Given the description of an element on the screen output the (x, y) to click on. 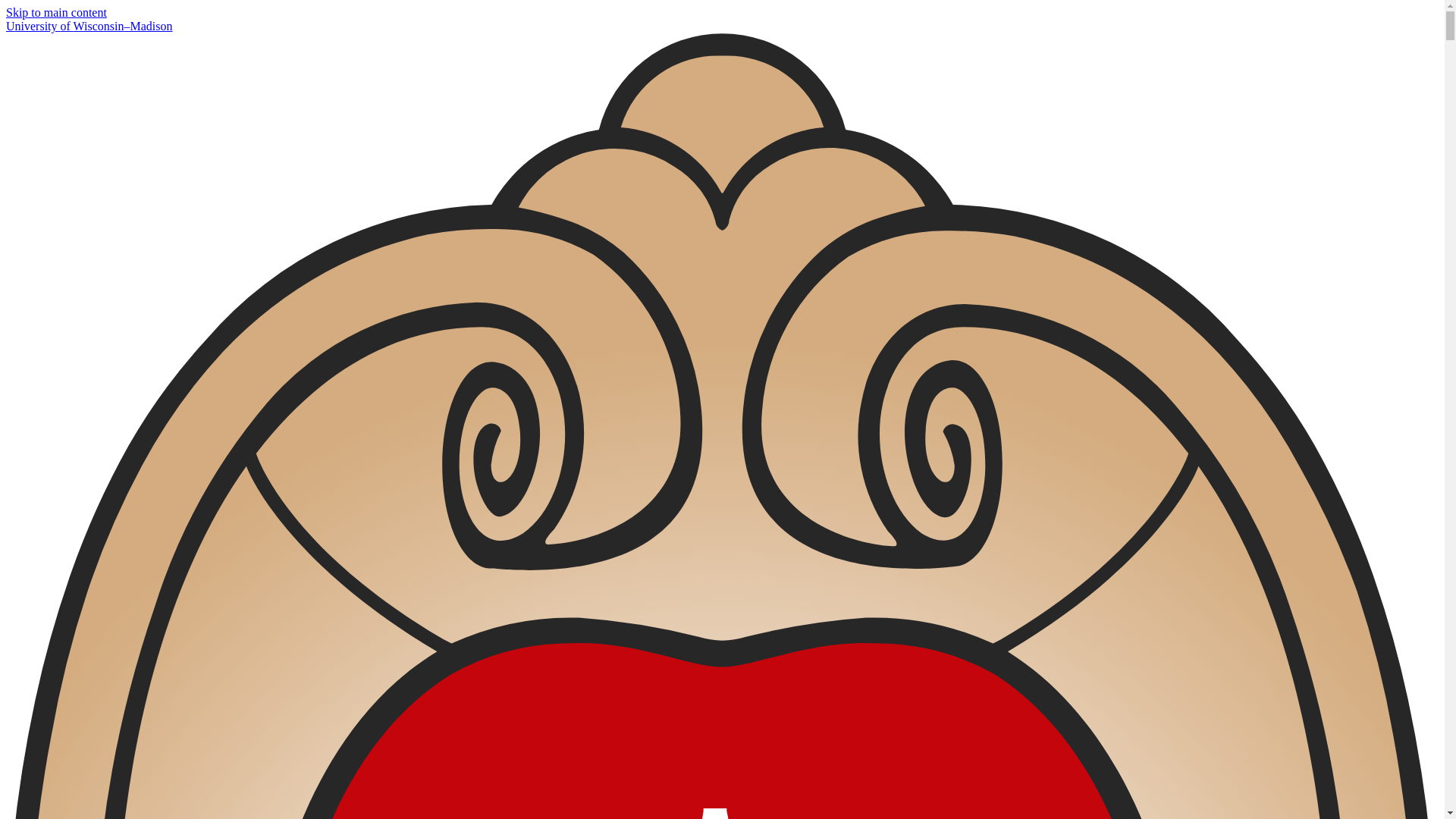
Skip to main content (55, 11)
